Given the description of an element on the screen output the (x, y) to click on. 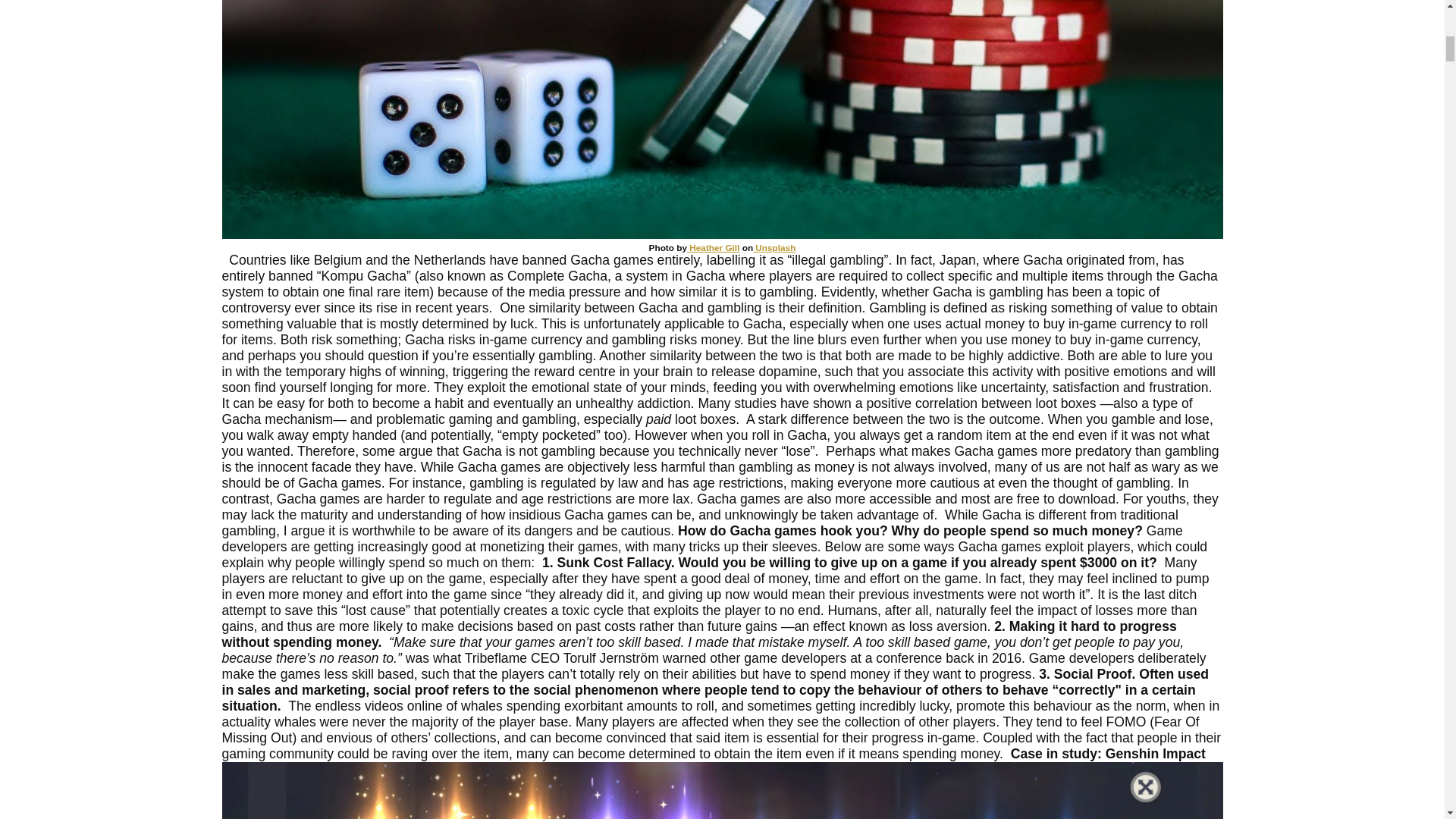
Heather Gill (713, 247)
Unsplash (773, 247)
